Given the description of an element on the screen output the (x, y) to click on. 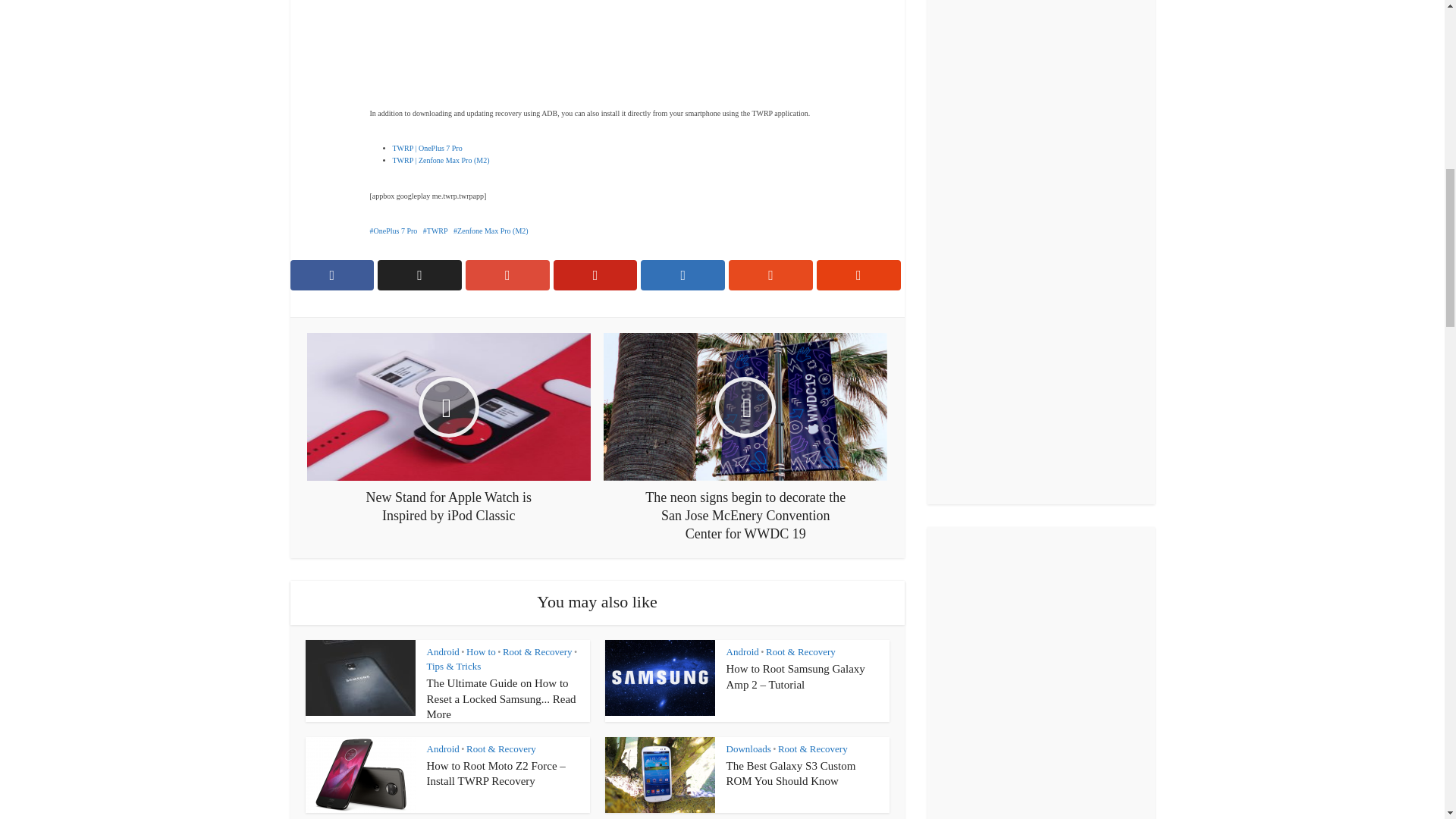
TWRP (435, 230)
The Best Galaxy S3 Custom ROM You Should Know (791, 773)
The Ultimate Guide on How to Reset a Locked Samsung Phone (500, 698)
OnePlus 7 Pro (393, 230)
